Given the description of an element on the screen output the (x, y) to click on. 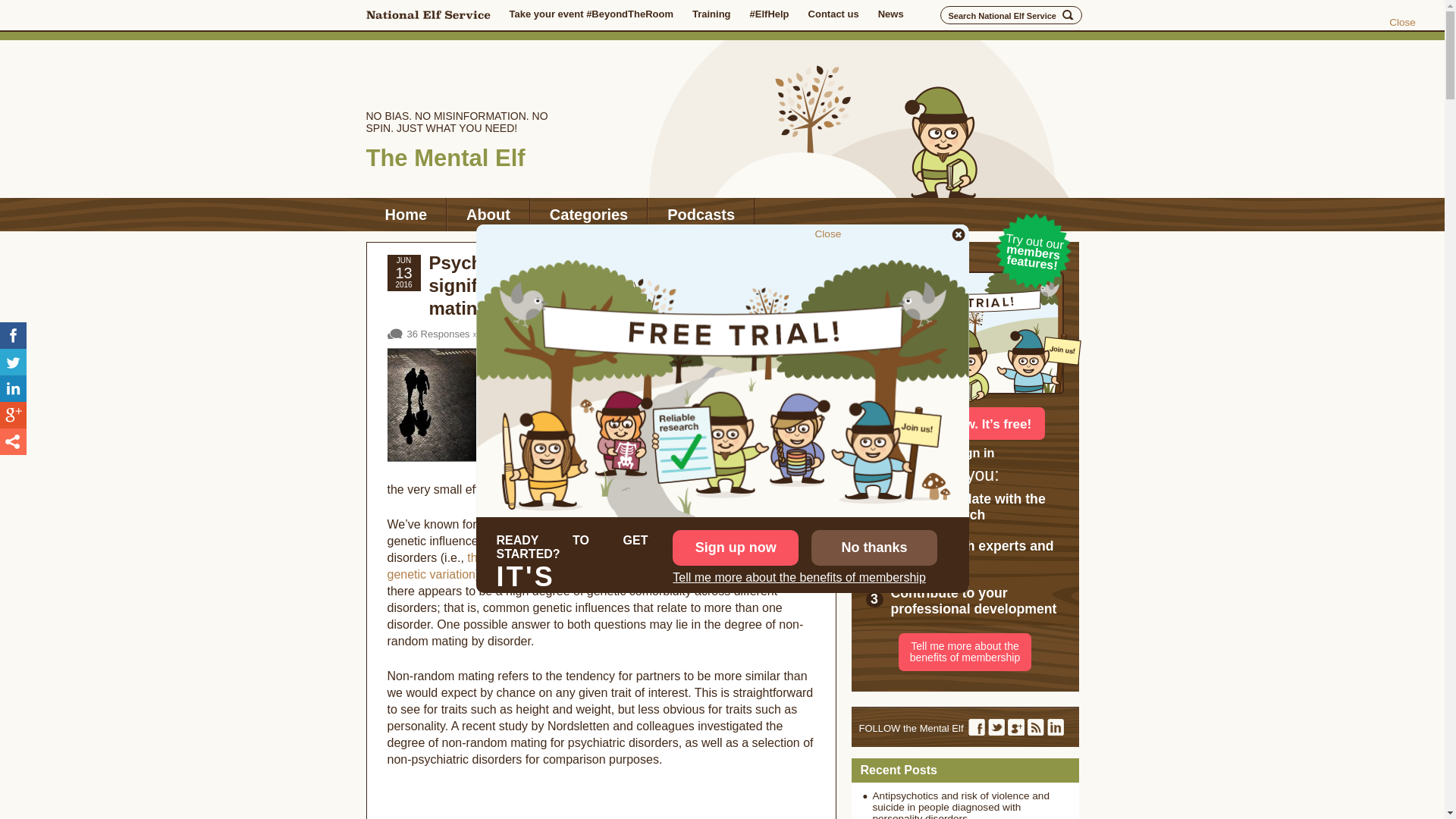
Home (405, 214)
Search (1068, 14)
Categories (588, 214)
Share on Facebook (13, 335)
Posts by Marcus Munafo (784, 316)
Share via sharethis (13, 441)
News (890, 13)
Contact us (833, 13)
Search (1068, 14)
Tweet this on Twitter (13, 361)
About (487, 214)
Training (711, 13)
Share on LinkedIn (13, 388)
